Given the description of an element on the screen output the (x, y) to click on. 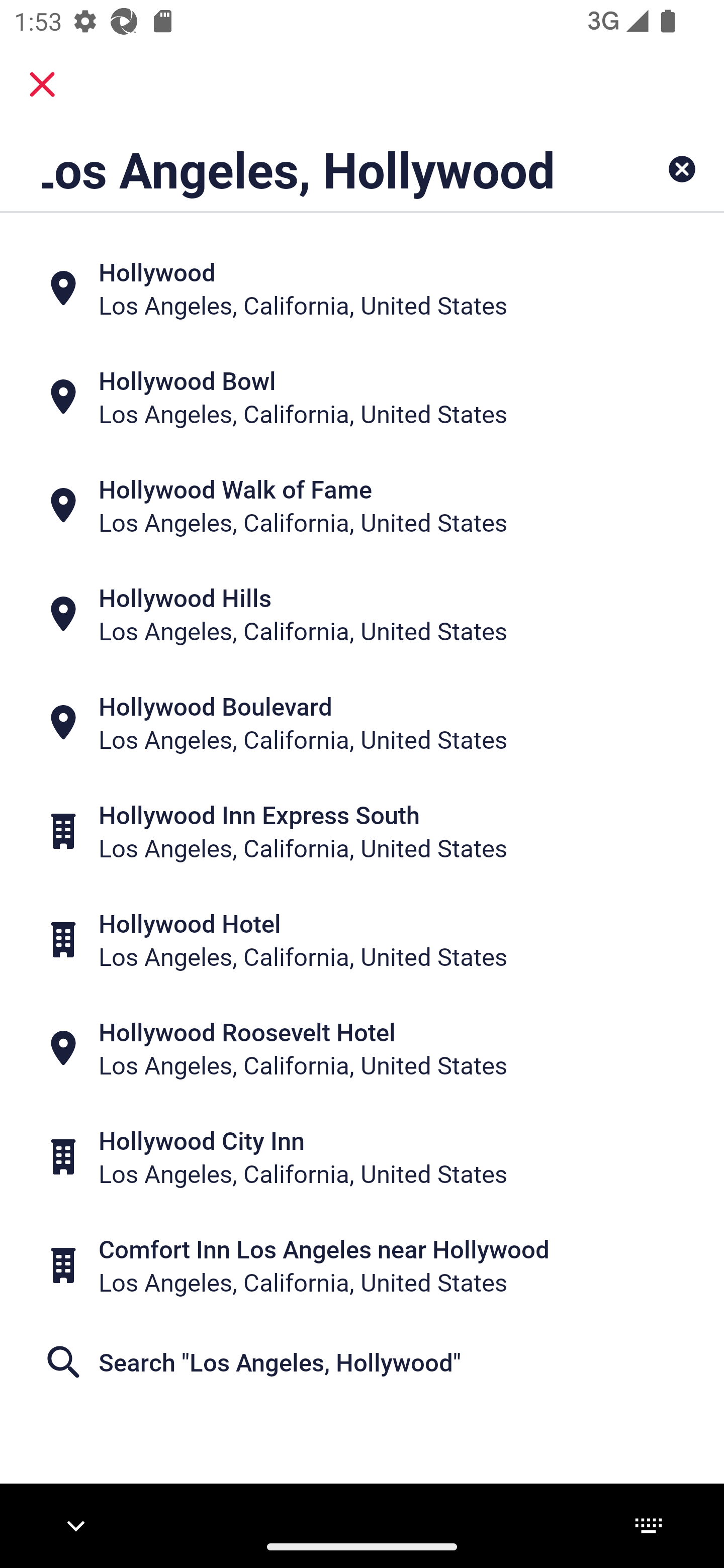
close. (42, 84)
Clear (681, 169)
Los Angeles, Hollywood (298, 169)
Hollywood Los Angeles, California, United States (362, 288)
Search "Los Angeles, Hollywood" (362, 1362)
